Given the description of an element on the screen output the (x, y) to click on. 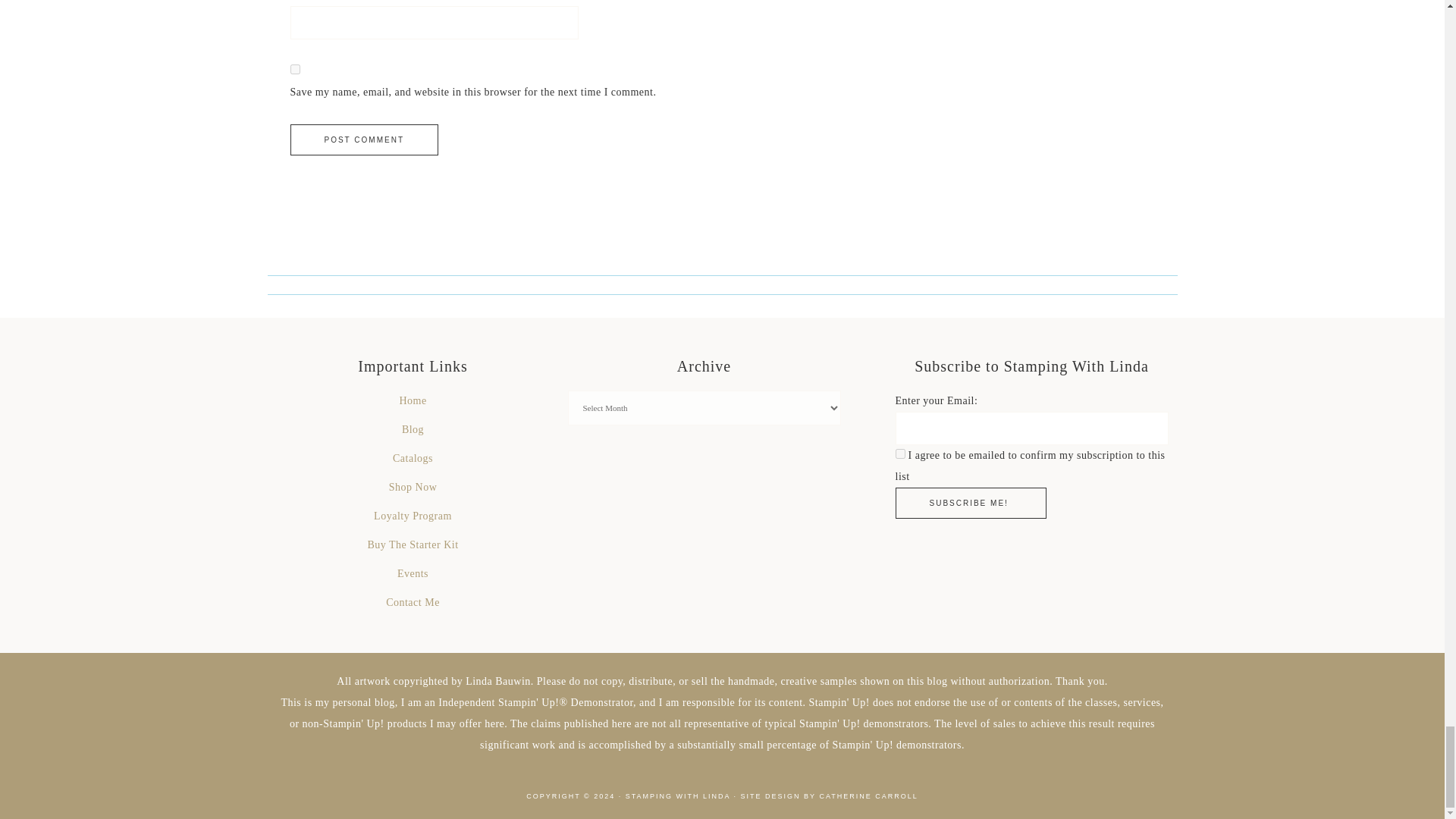
Post Comment (363, 139)
Subscribe me!  (970, 502)
yes (294, 69)
on (899, 453)
